Given the description of an element on the screen output the (x, y) to click on. 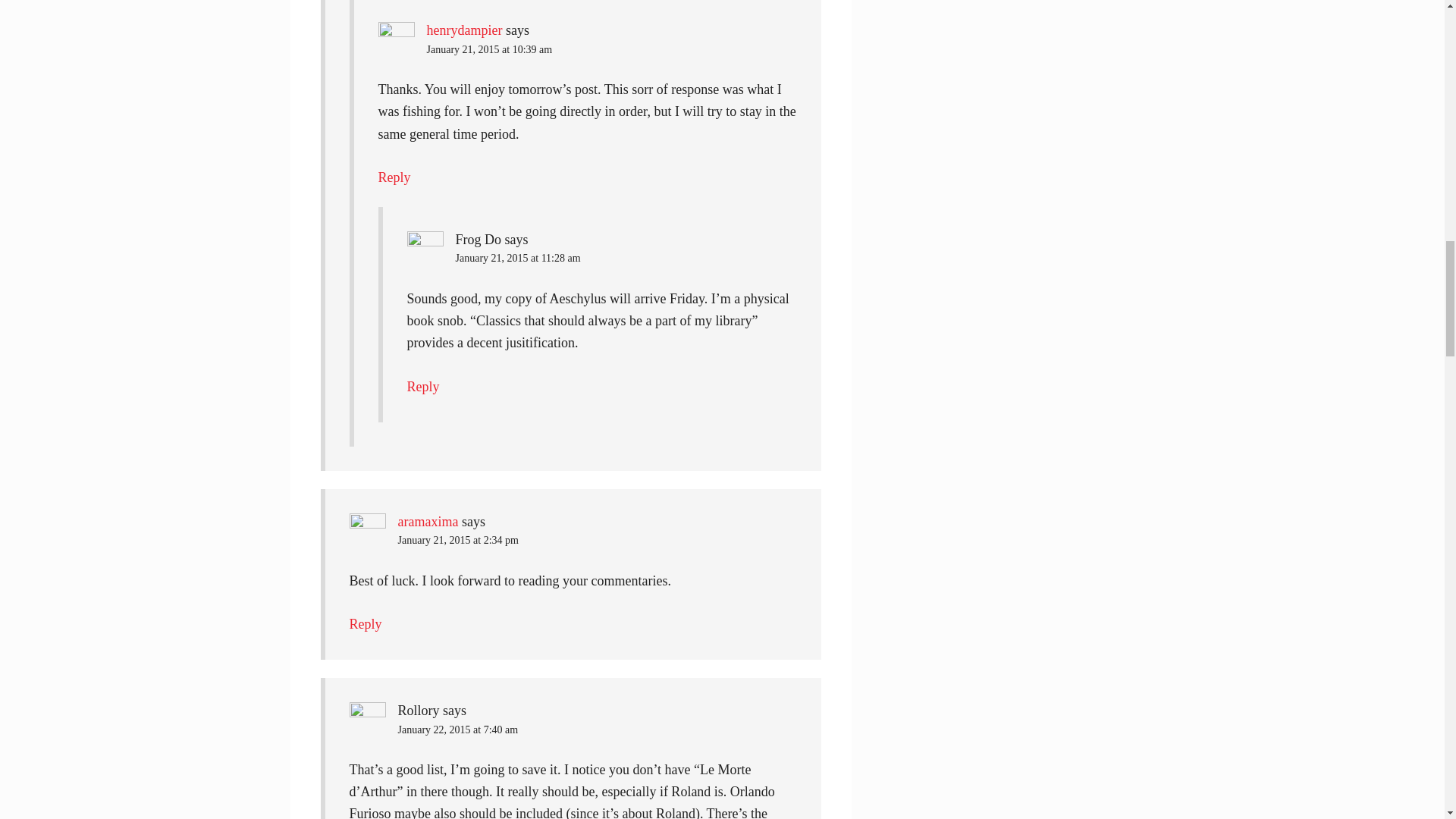
January 21, 2015 at 11:28 am (516, 257)
January 21, 2015 at 10:39 am (488, 49)
Reply (422, 386)
January 21, 2015 at 2:34 pm (457, 540)
January 22, 2015 at 7:40 am (457, 729)
Reply (393, 177)
aramaxima (427, 521)
Reply (365, 623)
henrydampier (464, 29)
